Given the description of an element on the screen output the (x, y) to click on. 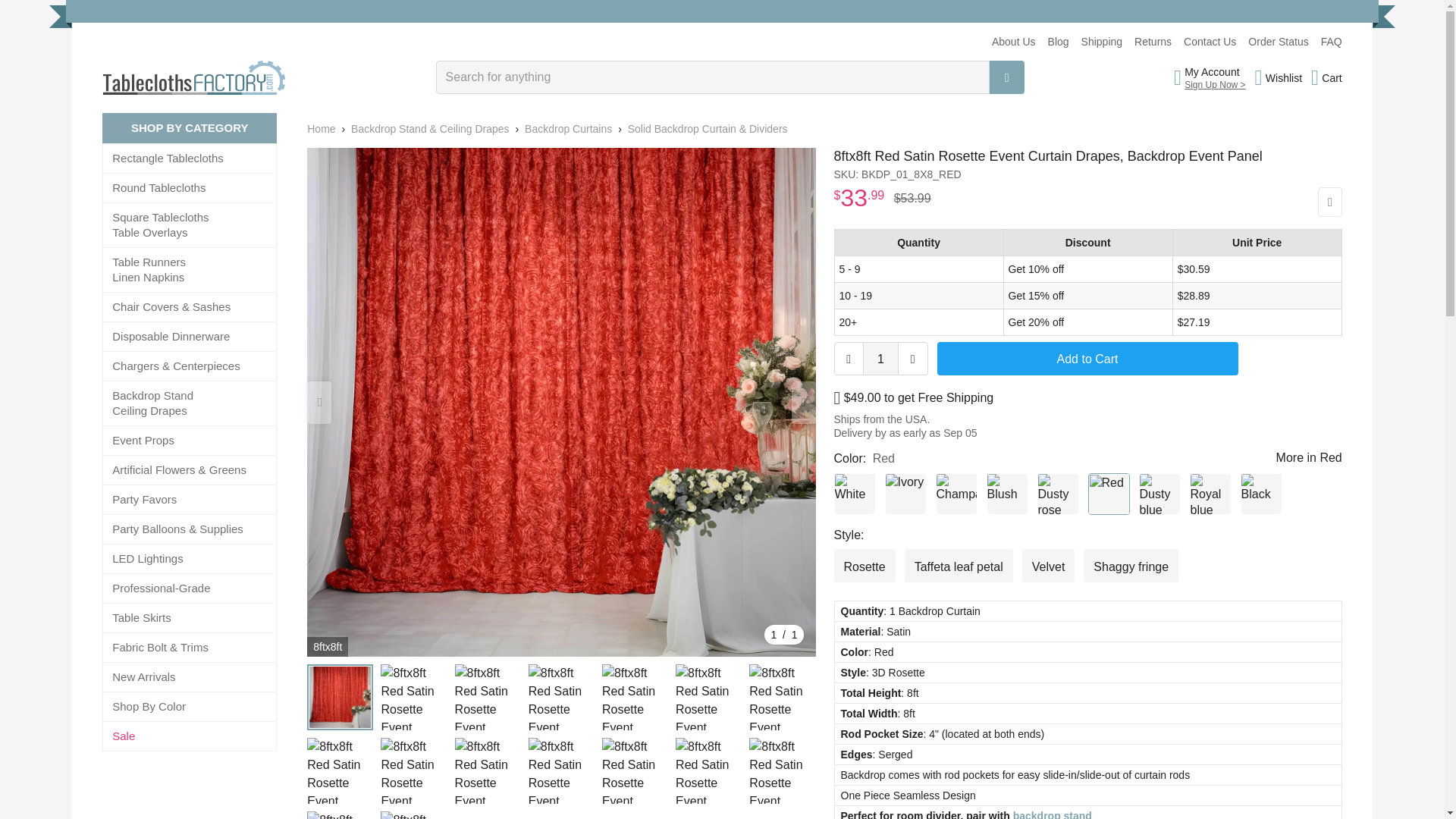
Champagne (956, 494)
Contact Us (1209, 41)
Returns (1153, 41)
Dusty blue (1159, 494)
Velvet (1048, 565)
1 (880, 358)
Back to the frontpage (320, 128)
Cart (1326, 77)
Red (1108, 494)
Order Status (1277, 41)
